Given the description of an element on the screen output the (x, y) to click on. 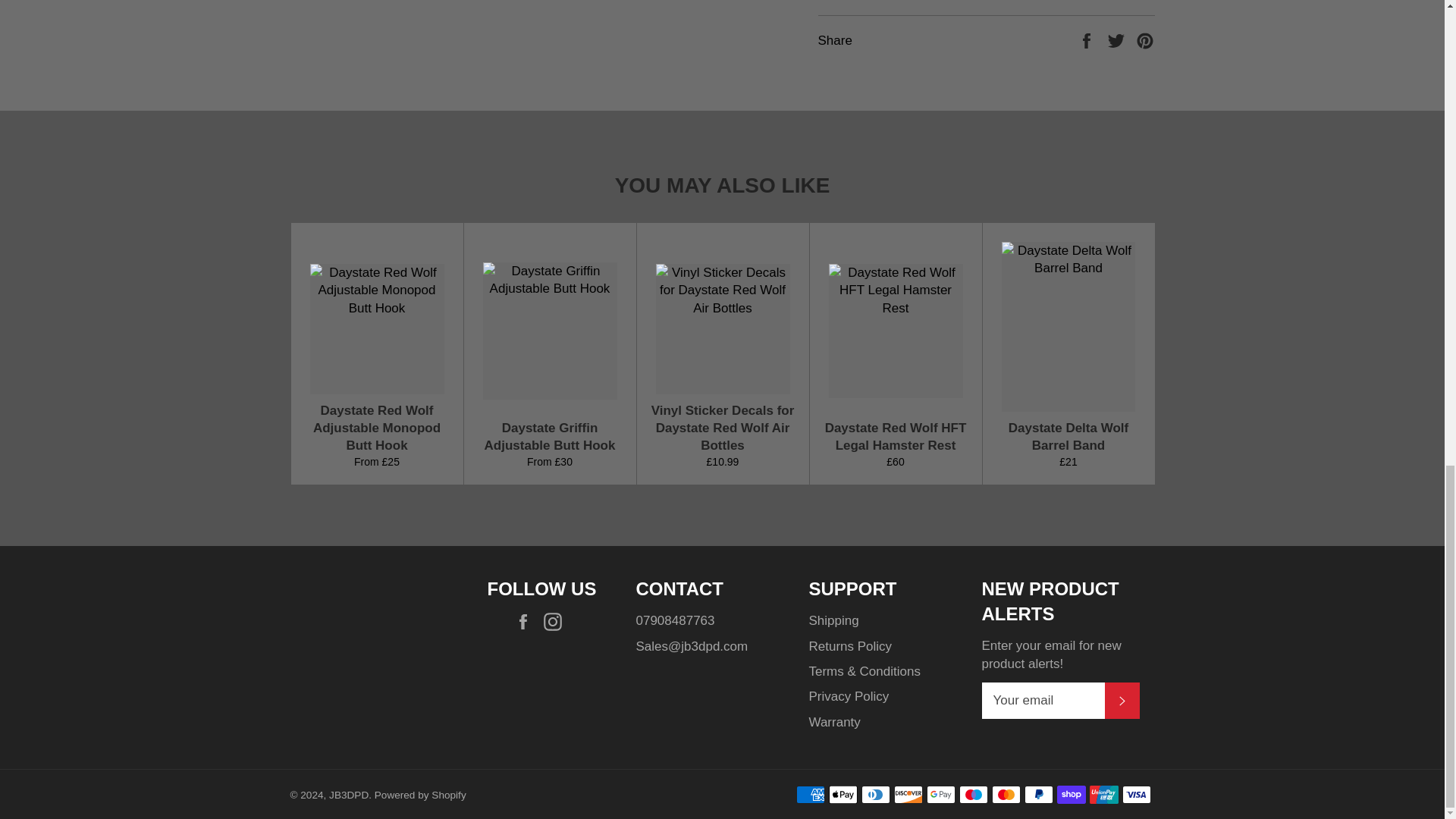
Pin on Pinterest (1144, 39)
JB3DPD on Facebook (526, 620)
Share on Facebook (1088, 39)
JB3DPD on Instagram (556, 620)
Tweet on Twitter (1117, 39)
